Given the description of an element on the screen output the (x, y) to click on. 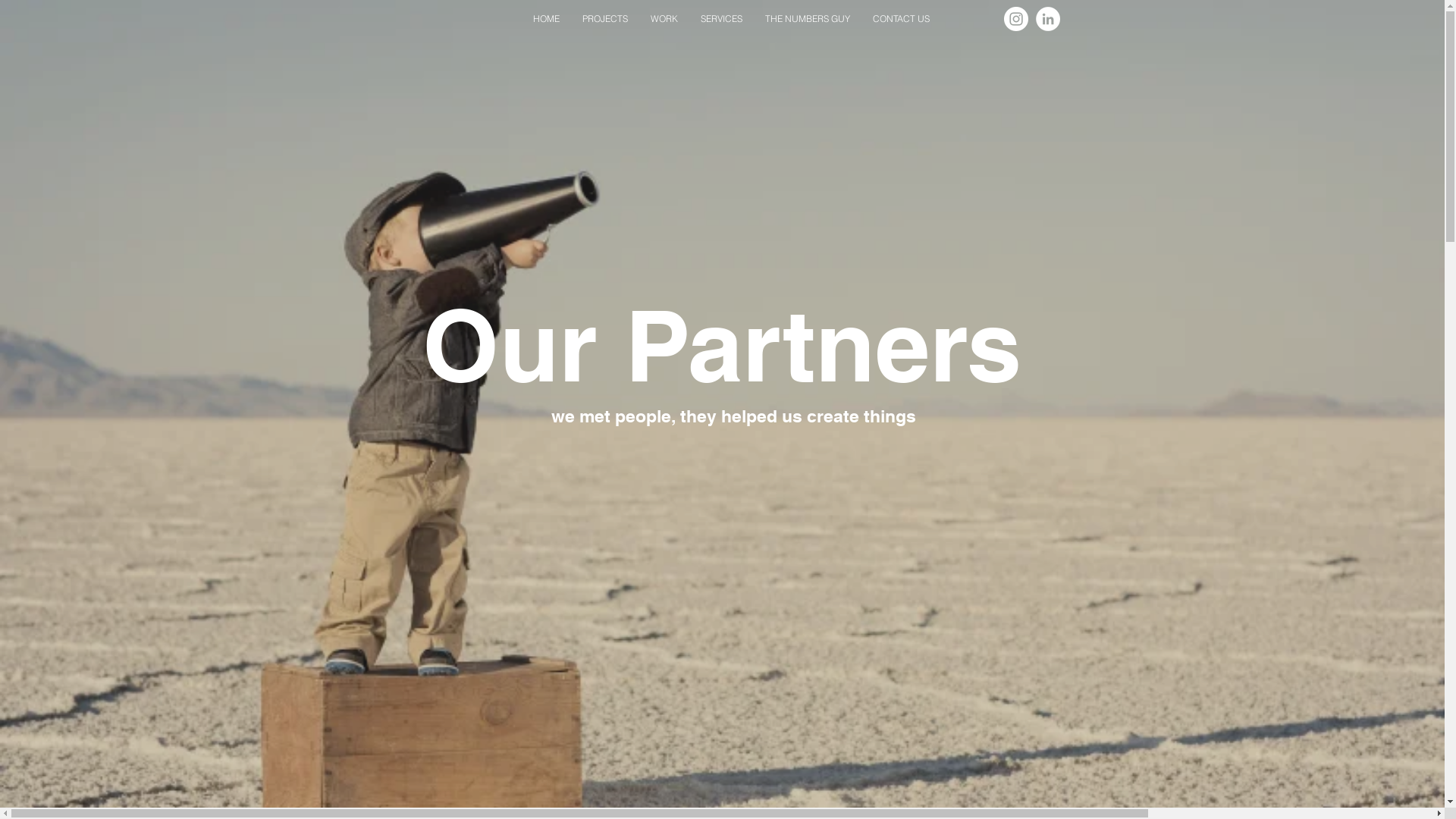
HOME Element type: text (546, 18)
CONTACT US Element type: text (901, 18)
WORK Element type: text (664, 18)
SERVICES Element type: text (721, 18)
THE NUMBERS GUY Element type: text (807, 18)
PROJECTS Element type: text (605, 18)
